Given the description of an element on the screen output the (x, y) to click on. 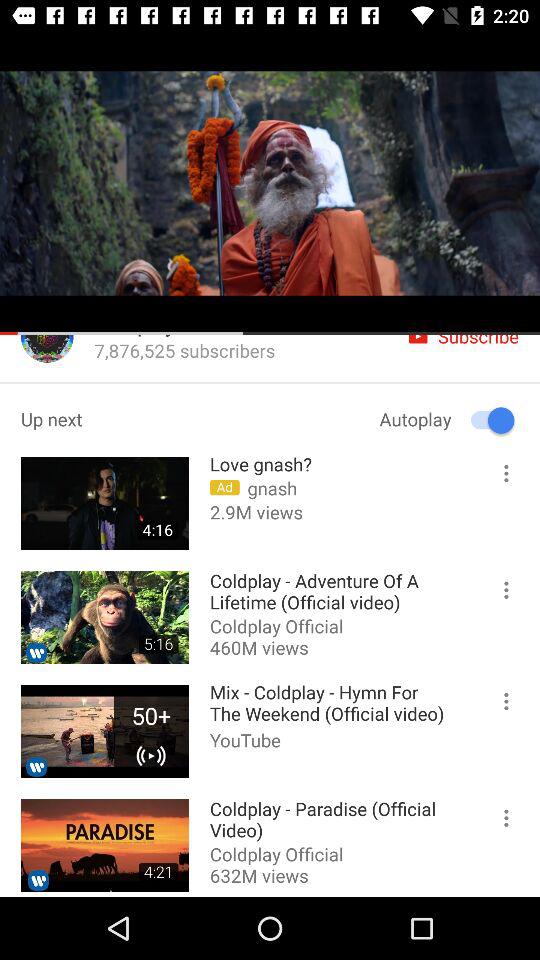
select options icon next to coldplayadventure of a lifetimeofficial video (497, 594)
click on the icon subscribe (464, 347)
select the third video from top (105, 731)
click on the third more button from top (497, 705)
